Given the description of an element on the screen output the (x, y) to click on. 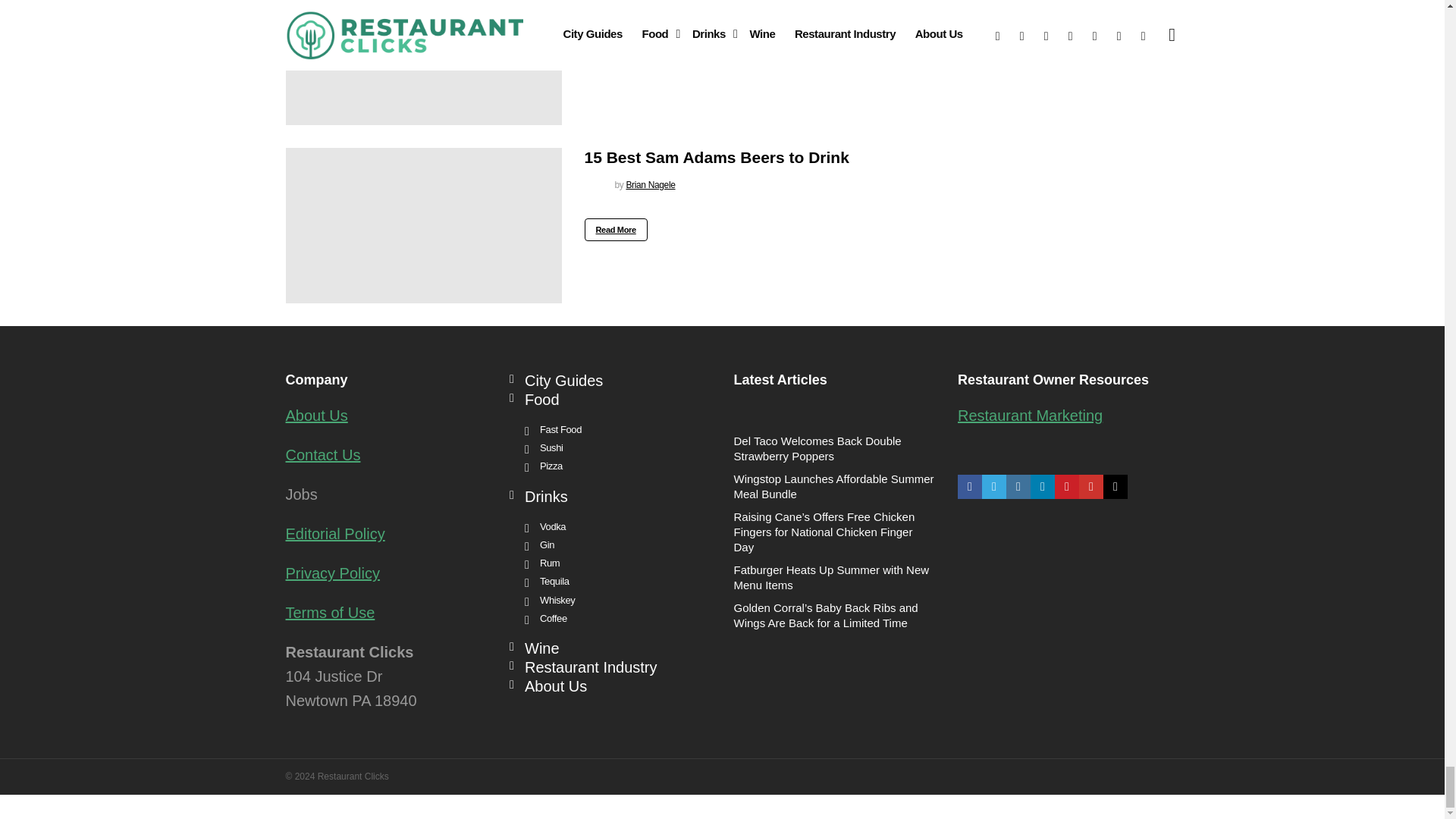
15 Best Selling Beers In America (422, 62)
Posts by Brian Nagele (650, 6)
